Given the description of an element on the screen output the (x, y) to click on. 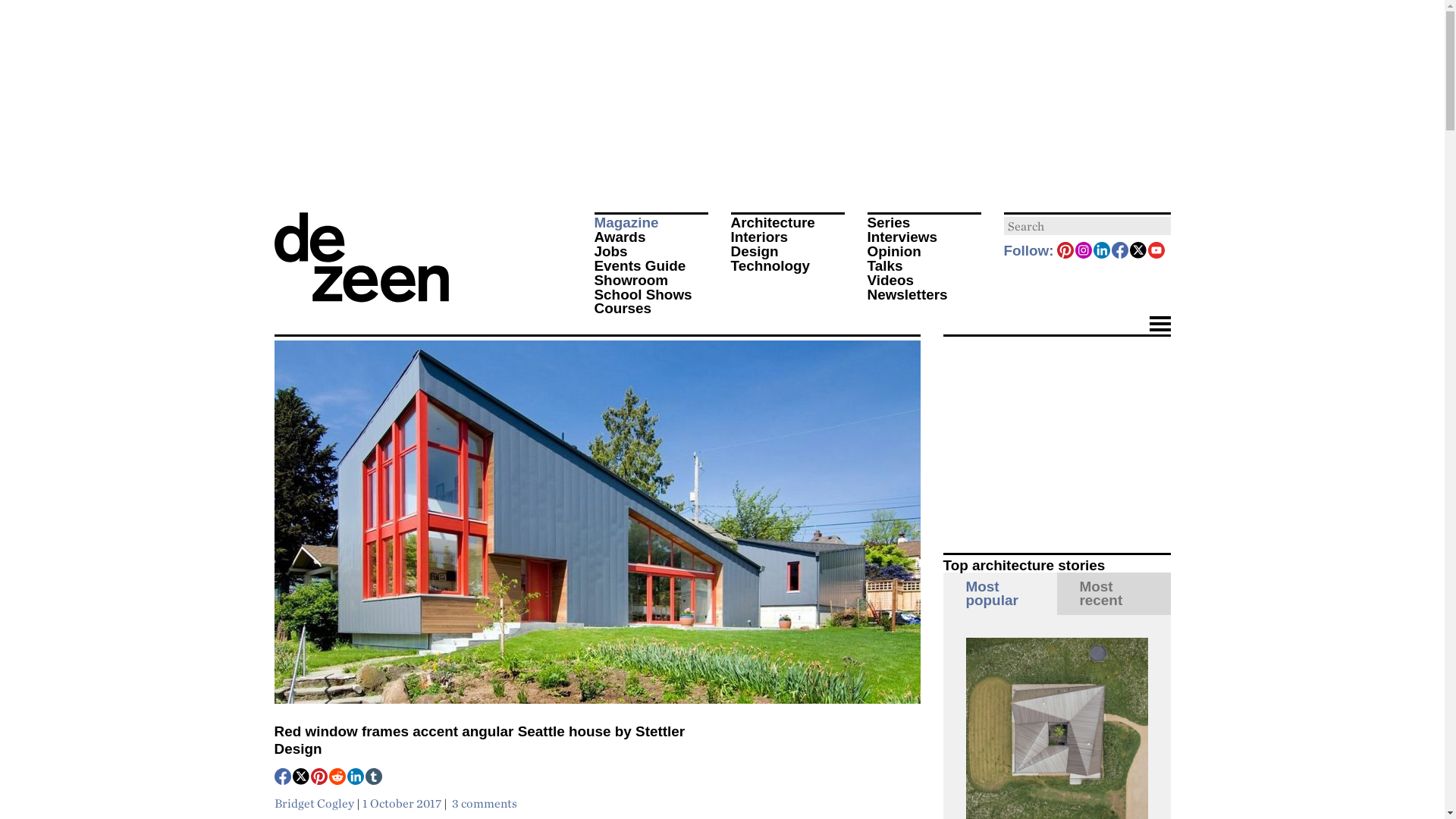
3rd party ad content (1056, 434)
1 October 2017 (401, 802)
Posts by Bridget Cogley (314, 802)
